Given the description of an element on the screen output the (x, y) to click on. 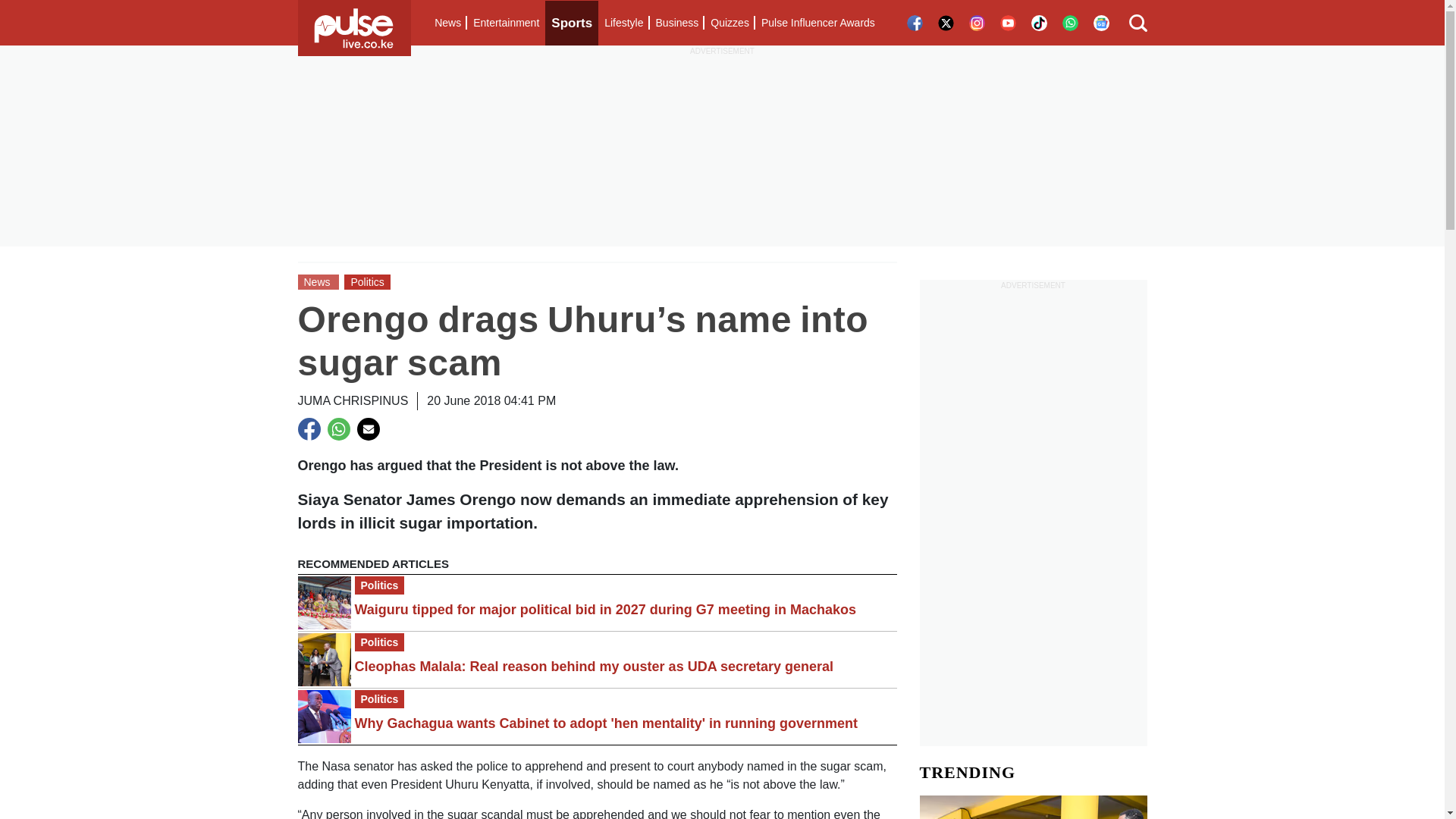
Pulse Influencer Awards (817, 22)
Entertainment (505, 22)
Sports (571, 22)
Quizzes (729, 22)
Lifestyle (623, 22)
Business (676, 22)
